Given the description of an element on the screen output the (x, y) to click on. 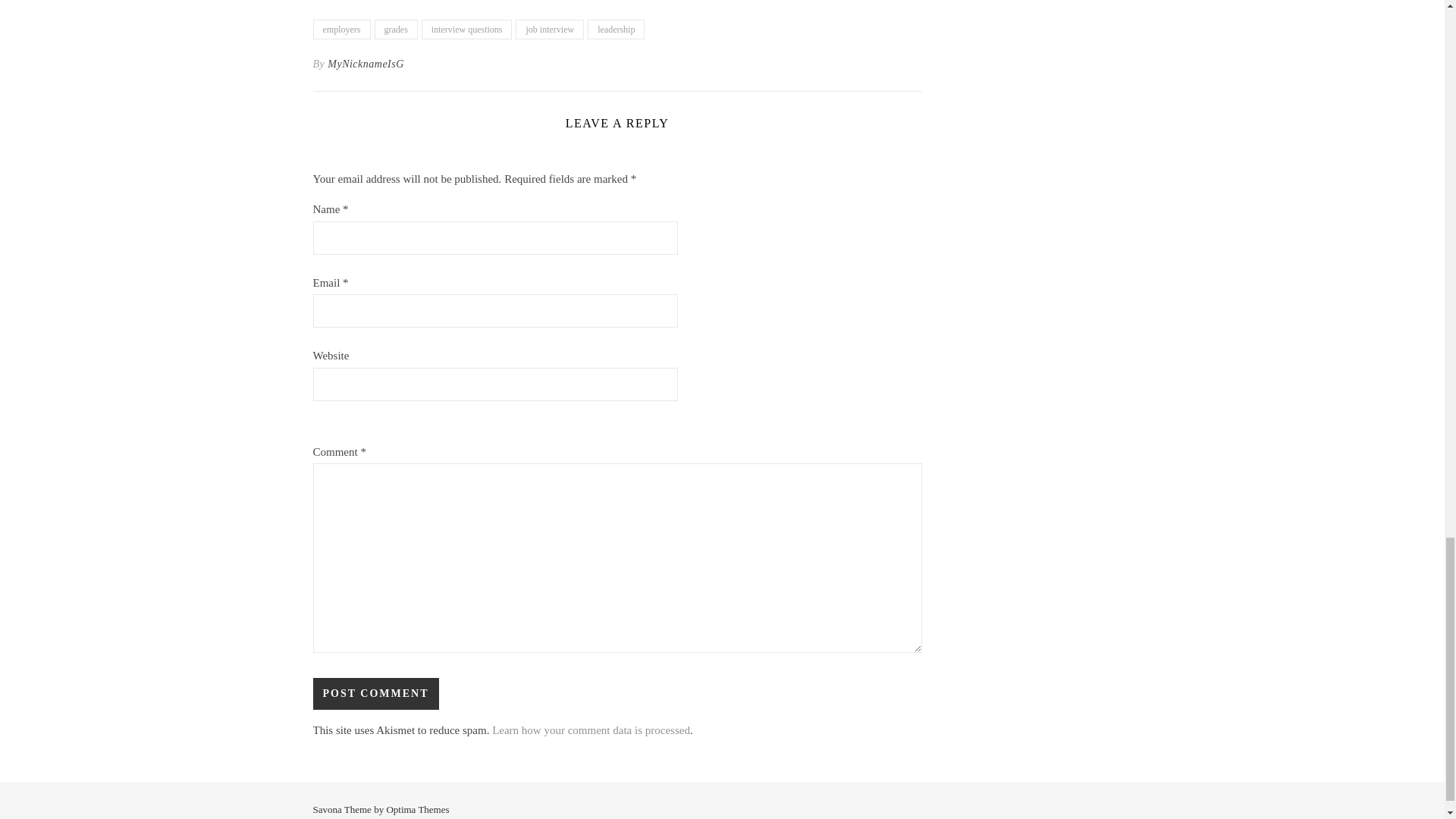
Posts by MyNicknameIsG (365, 64)
MyNicknameIsG (365, 64)
leadership (616, 29)
grades (395, 29)
Optima Themes (416, 808)
interview questions (467, 29)
Please wait until Google reCAPTCHA is loaded. (375, 694)
employers (341, 29)
Post Comment (375, 694)
Learn how your comment data is processed (591, 729)
